Given the description of an element on the screen output the (x, y) to click on. 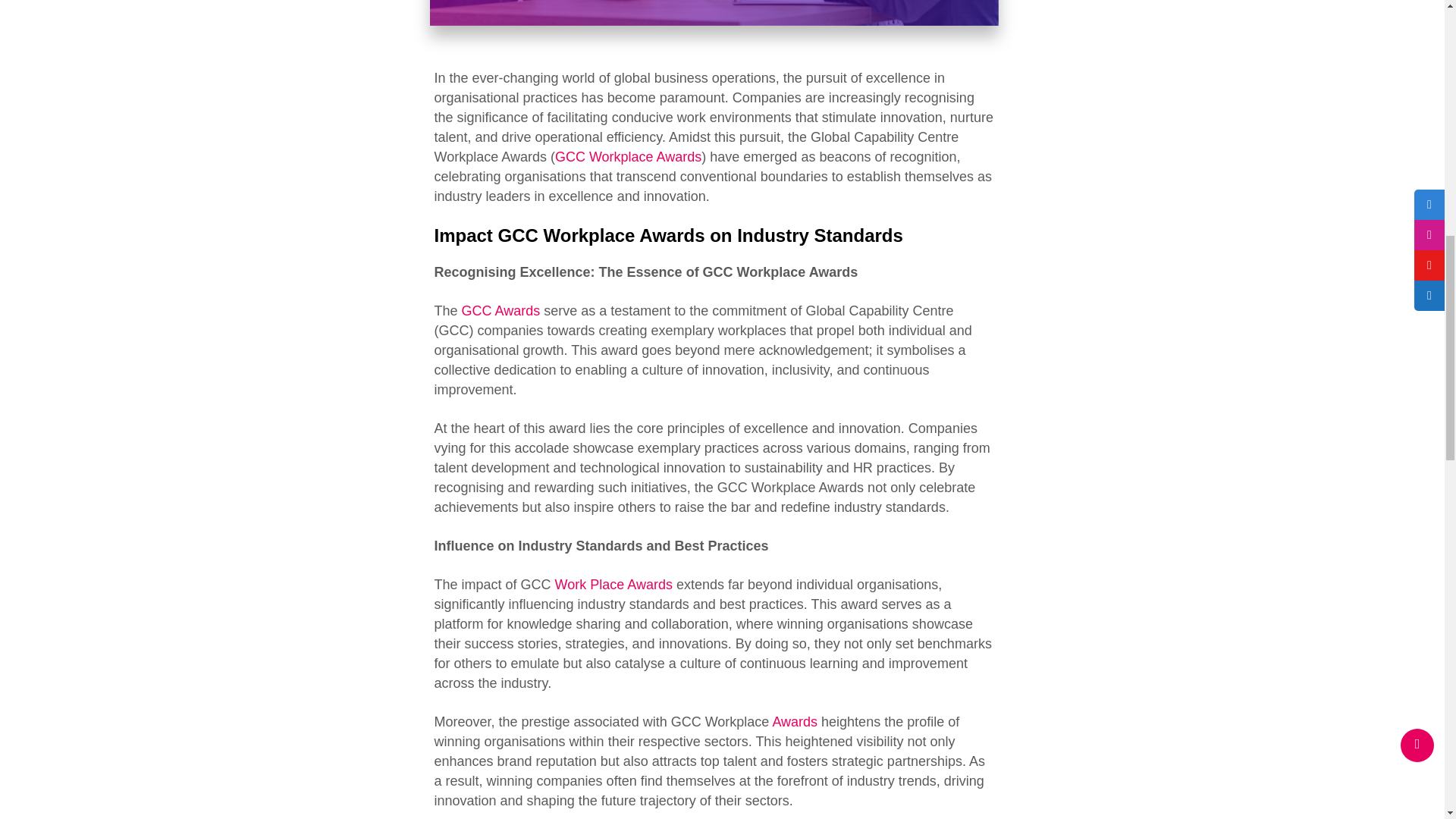
GCC Workplace Awards (627, 156)
Awards (796, 721)
Work Place Awards (613, 584)
GCC Awards (500, 310)
